Given the description of an element on the screen output the (x, y) to click on. 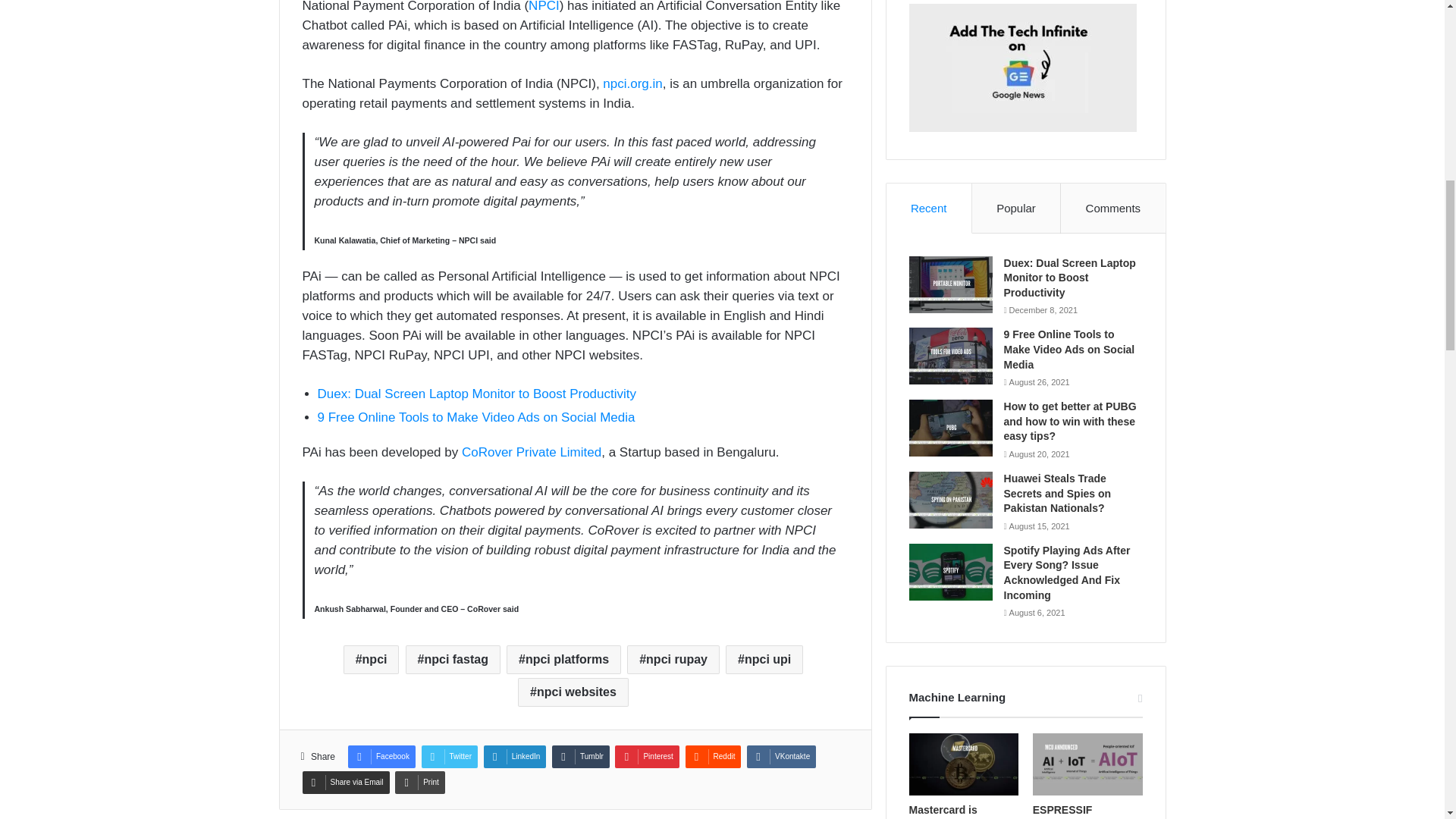
npci fastag (453, 659)
Print (419, 782)
Duex: Dual Screen Laptop Monitor to Boost Productivity (476, 393)
Share via Email (344, 782)
VKontakte (780, 756)
Facebook (380, 756)
9 Free Online Tools to Make Video Ads on Social Media (475, 417)
Tumblr (580, 756)
npci (370, 659)
CoRover Private Limited (531, 452)
Reddit (713, 756)
Pinterest (646, 756)
NPCI (543, 6)
npci.org.in (632, 83)
Twitter (449, 756)
